Given the description of an element on the screen output the (x, y) to click on. 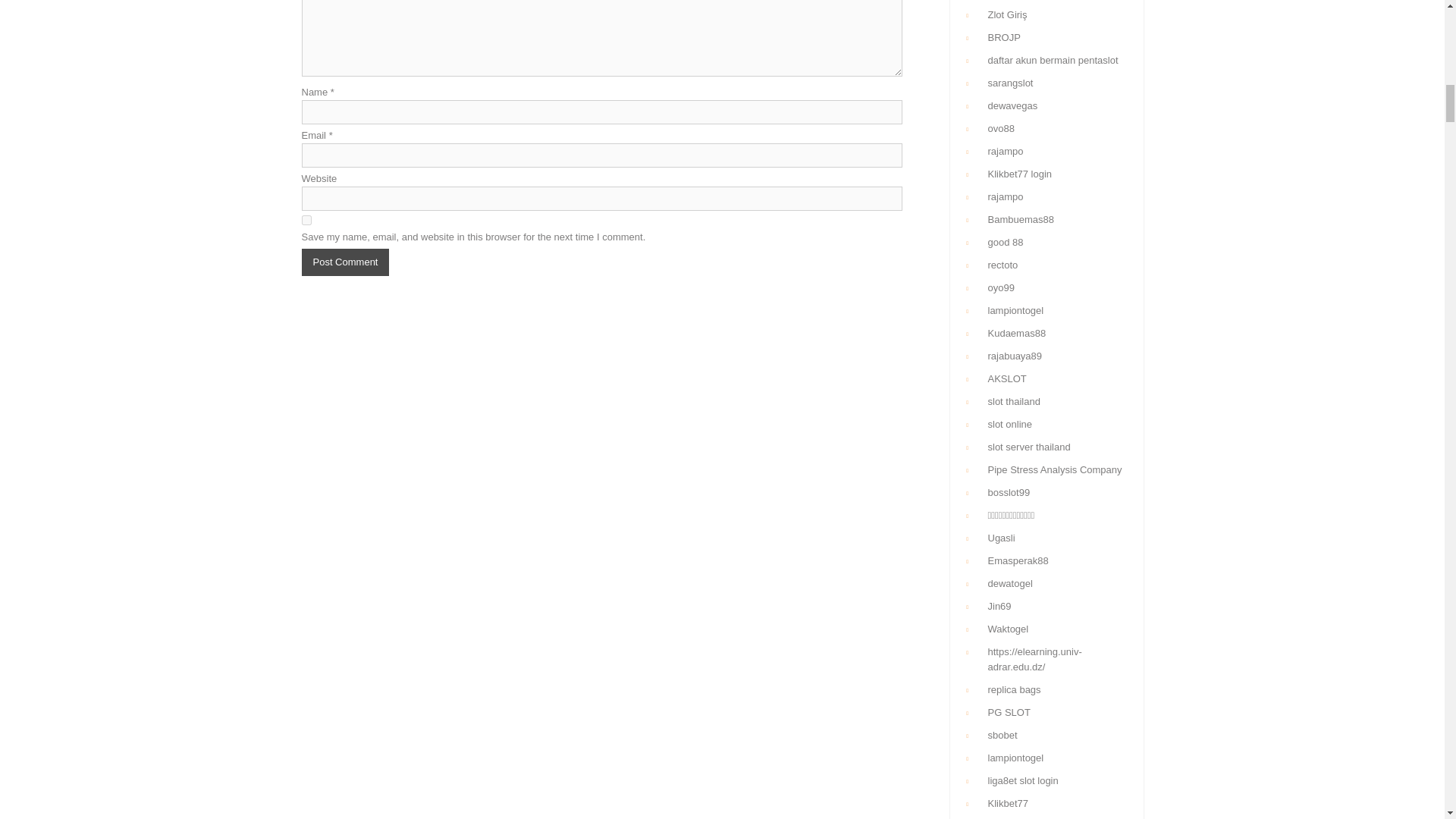
Post Comment (345, 262)
Post Comment (345, 262)
yes (306, 220)
